Given the description of an element on the screen output the (x, y) to click on. 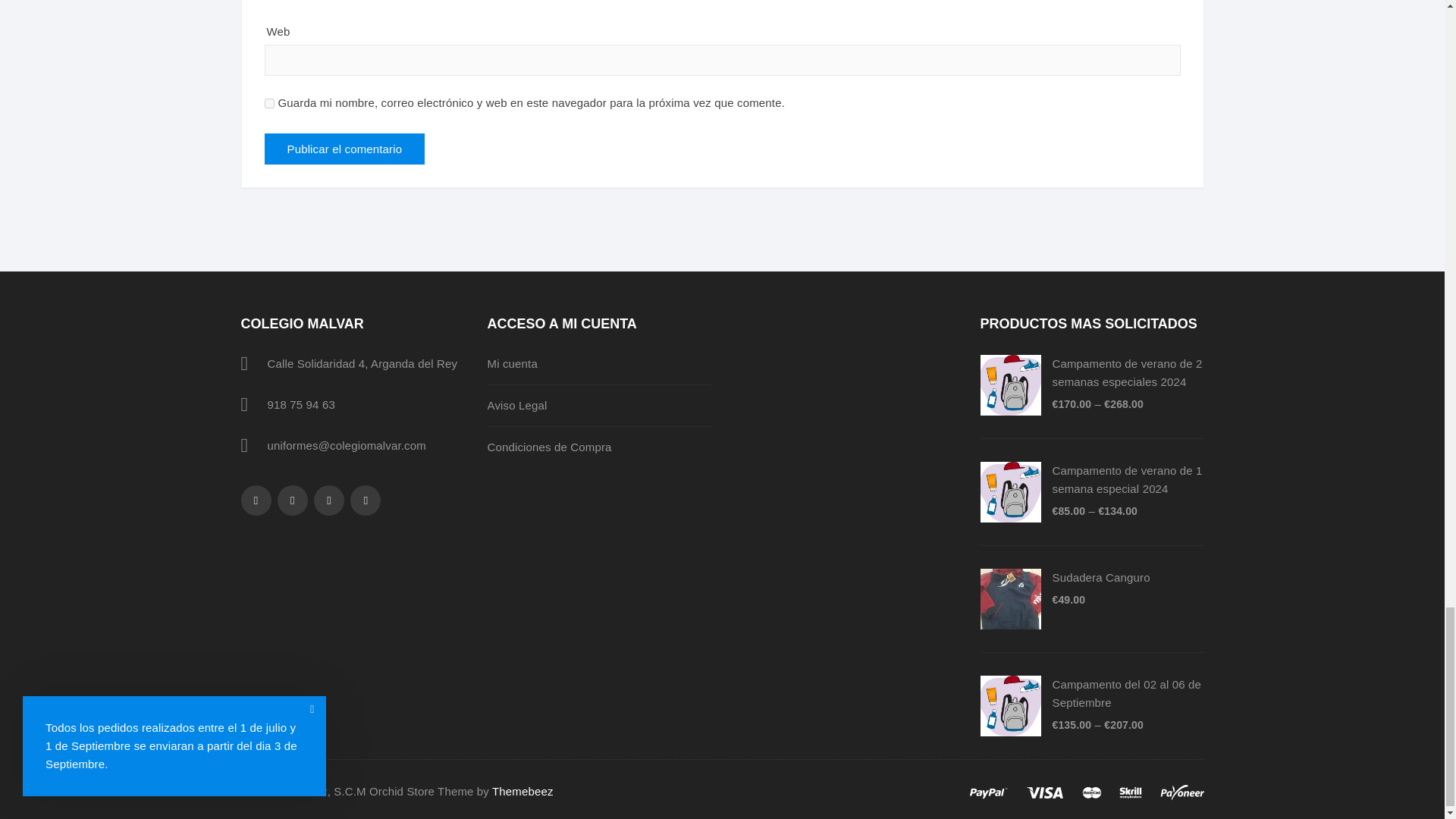
Publicar el comentario (344, 148)
yes (268, 103)
Publicar el comentario (344, 148)
